Given the description of an element on the screen output the (x, y) to click on. 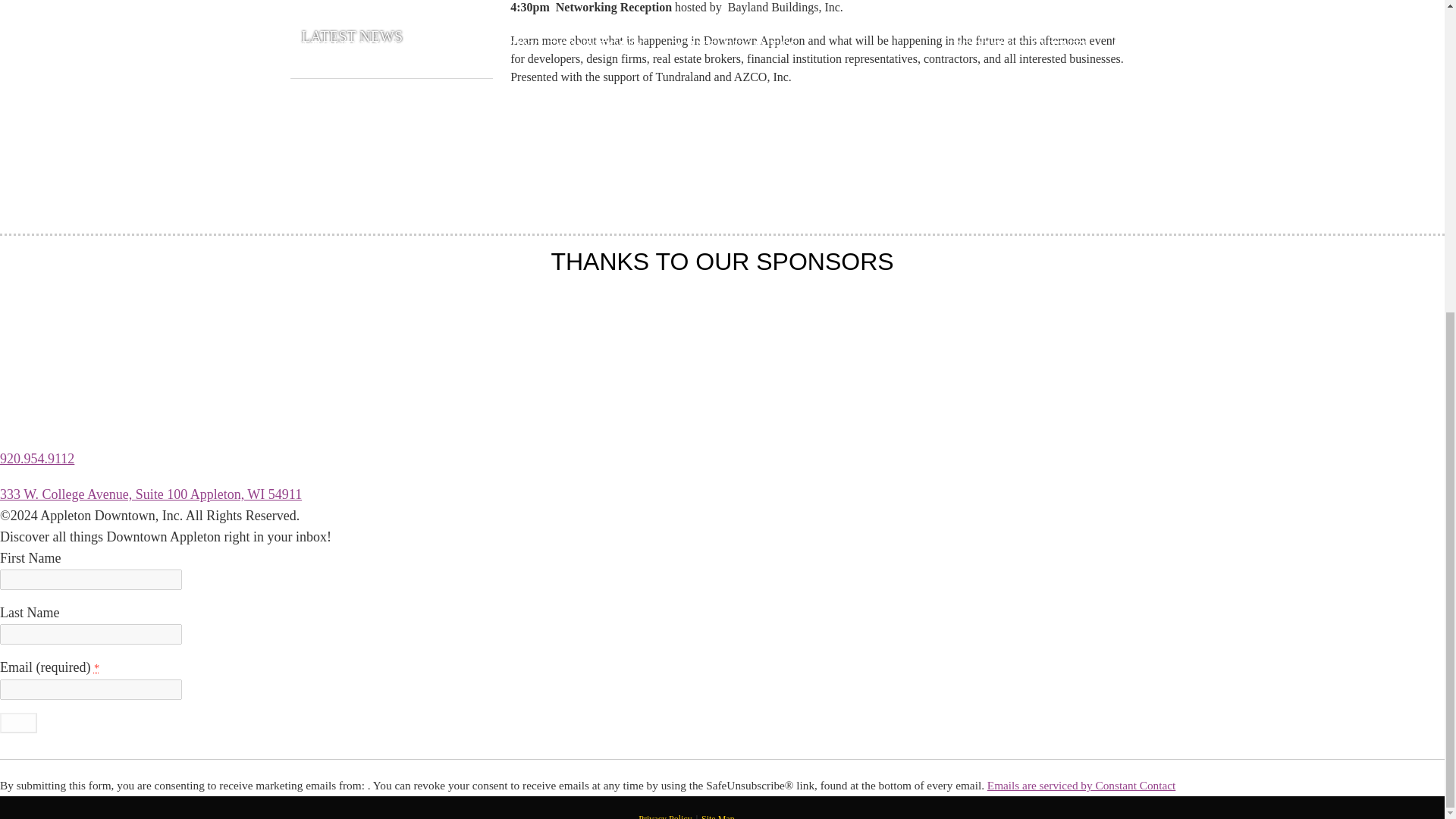
GO! (18, 722)
